Given the description of an element on the screen output the (x, y) to click on. 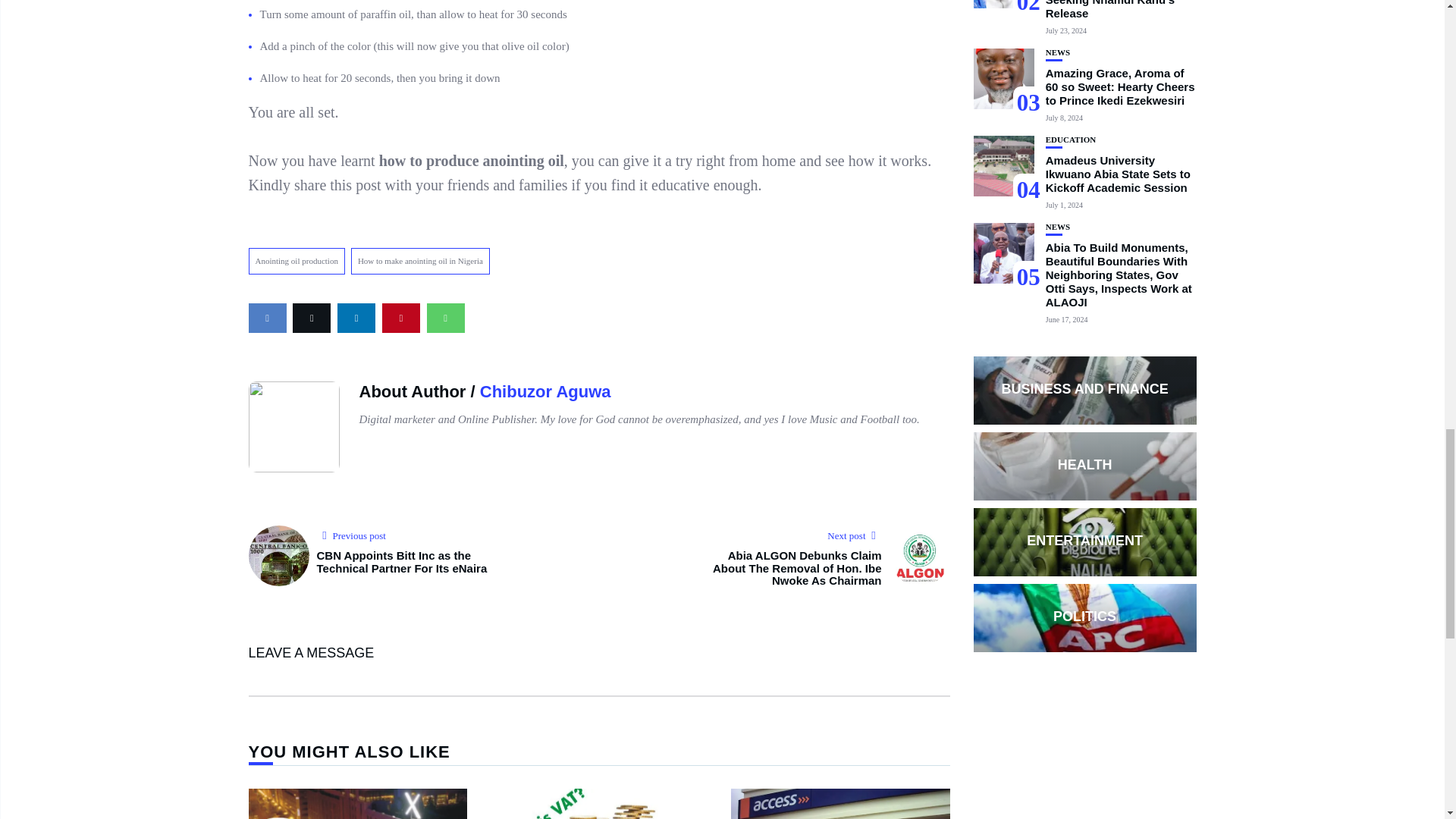
Anointing oil production (296, 261)
Posts by Chibuzor Aguwa (545, 391)
facebook (267, 317)
Chibuzor Aguwa (545, 391)
How to make anointing oil in Nigeria (419, 261)
